Given the description of an element on the screen output the (x, y) to click on. 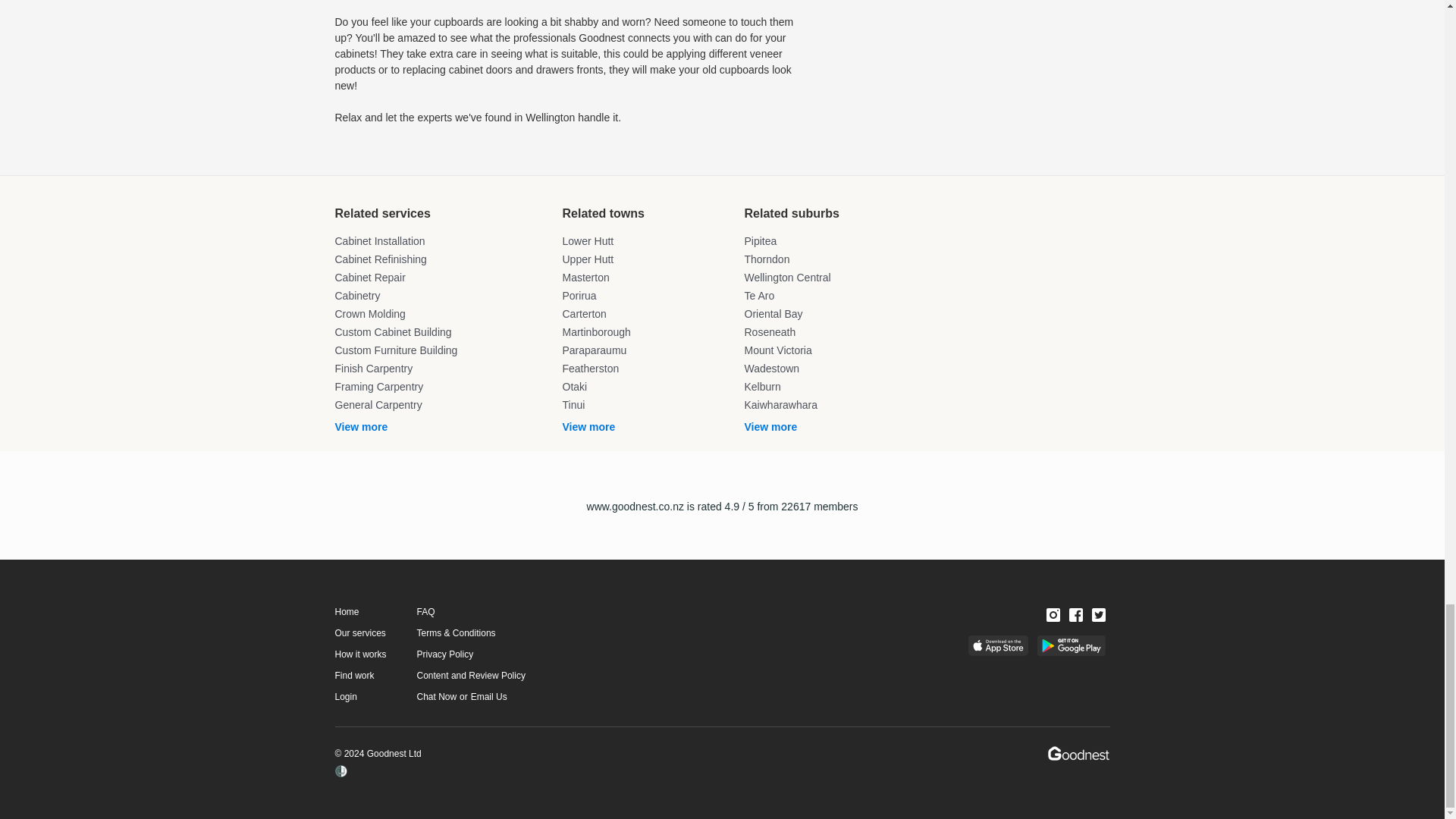
Crown Molding (440, 314)
Goodnest Facebook Page (1075, 614)
Goodnest Android App (1070, 645)
Custom Cabinet Building (440, 332)
Goodnest iOS App (997, 645)
Lower Hutt (645, 241)
Custom Furniture Building (440, 350)
View more (440, 426)
Martinborough (645, 332)
Featherston (645, 368)
